Given the description of an element on the screen output the (x, y) to click on. 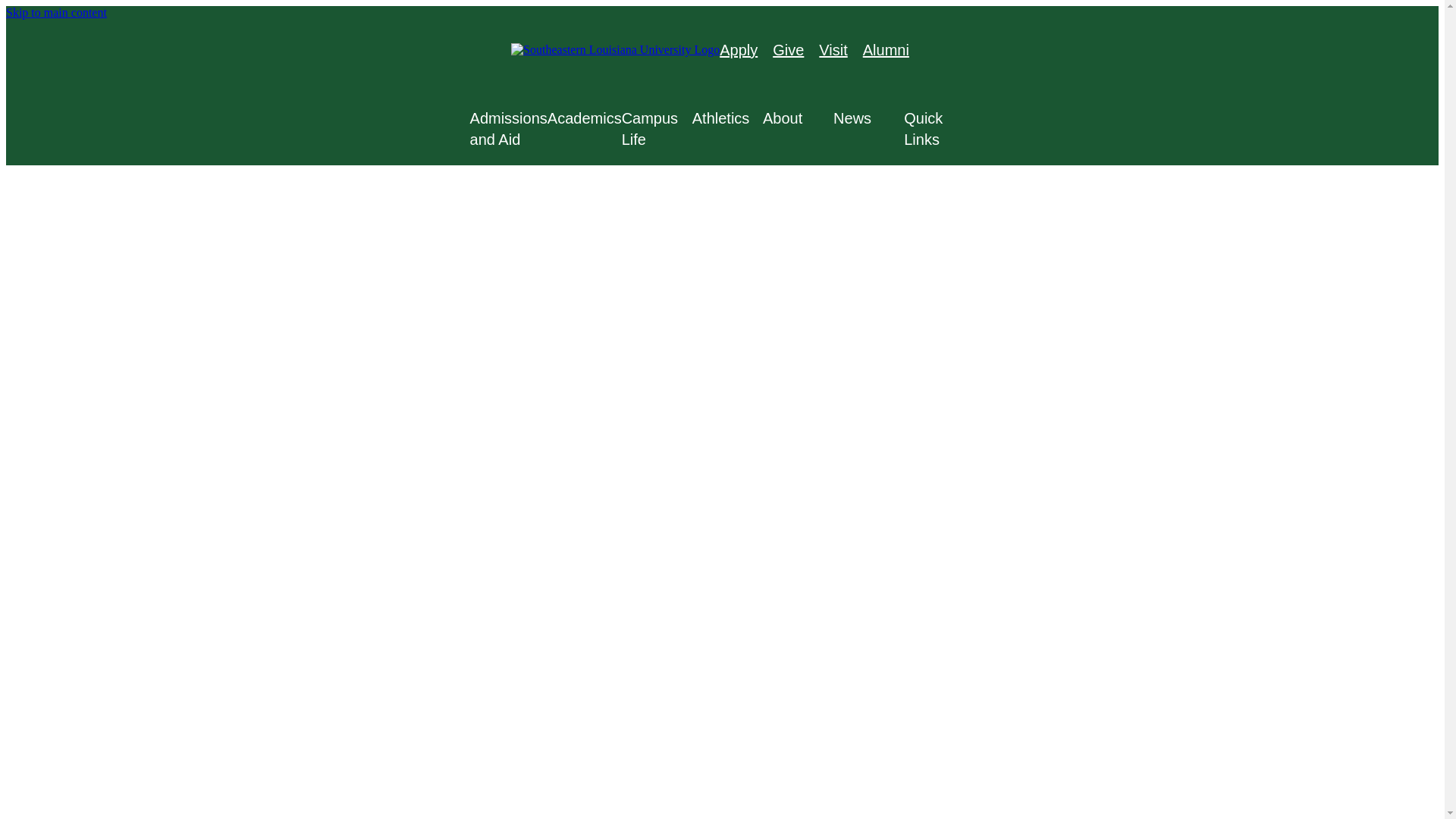
Visit (832, 49)
Alumni (885, 49)
Admissions and Aid (508, 128)
Campus Life (657, 128)
Academics (584, 117)
Give (788, 49)
Apply (738, 49)
